Given the description of an element on the screen output the (x, y) to click on. 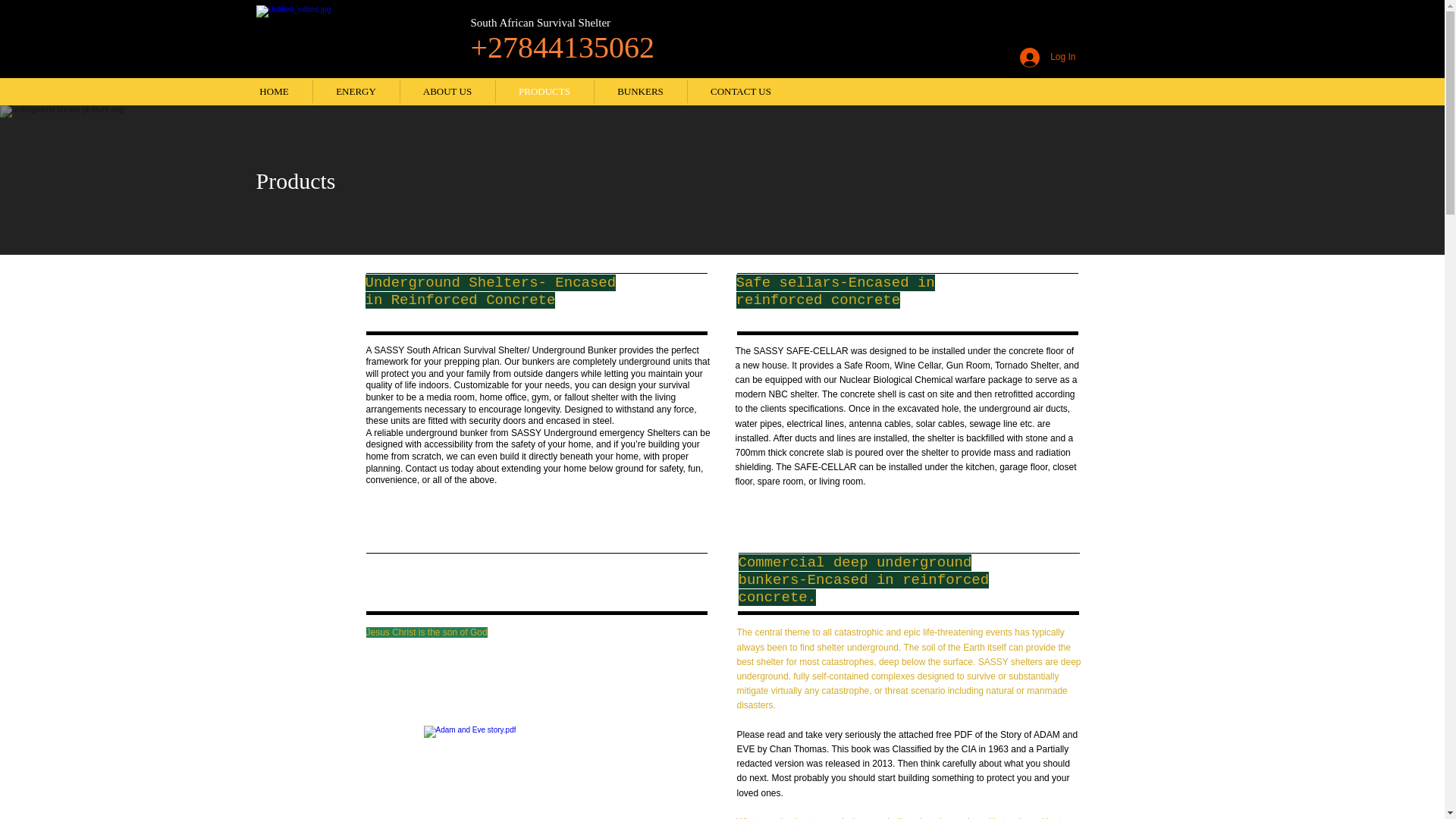
Adam and Eve story.pdf (533, 772)
CONTACT US (740, 91)
Screenshot 2022-01-29 213846.png (339, 36)
BUNKERS (640, 91)
HOME (274, 91)
Log In (1047, 57)
PRODUCTS (545, 91)
ABOUT US (447, 91)
ENERGY (355, 91)
